Given the description of an element on the screen output the (x, y) to click on. 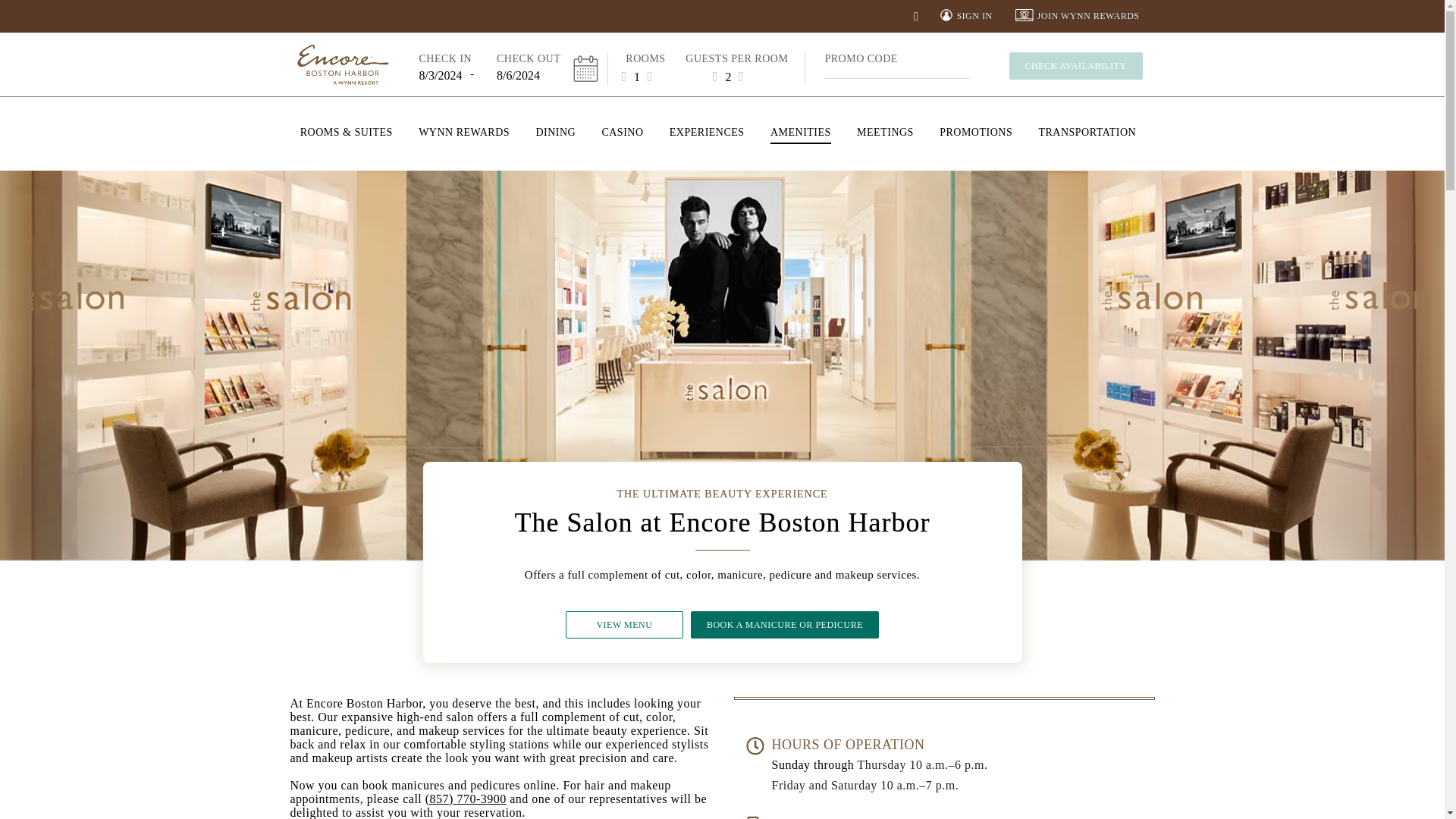
JOIN WYNN REWARDS (1077, 16)
SIGN IN (965, 16)
1 (636, 75)
CHECK AVAILABILITY (1075, 65)
2 (727, 75)
